Given the description of an element on the screen output the (x, y) to click on. 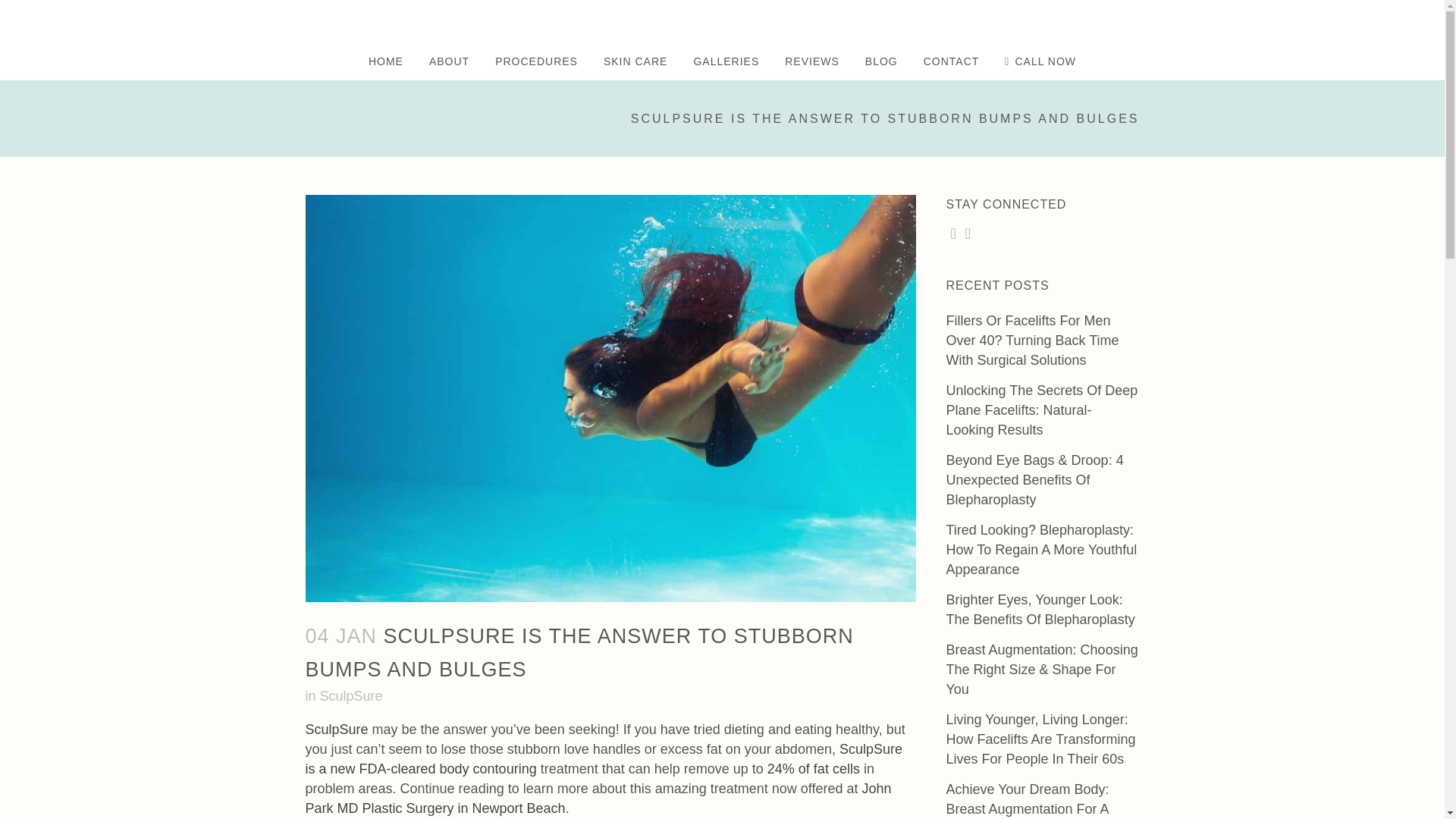
ABOUT (448, 61)
PROCEDURES (536, 61)
HOME (385, 61)
SKIN CARE (635, 61)
